Given the description of an element on the screen output the (x, y) to click on. 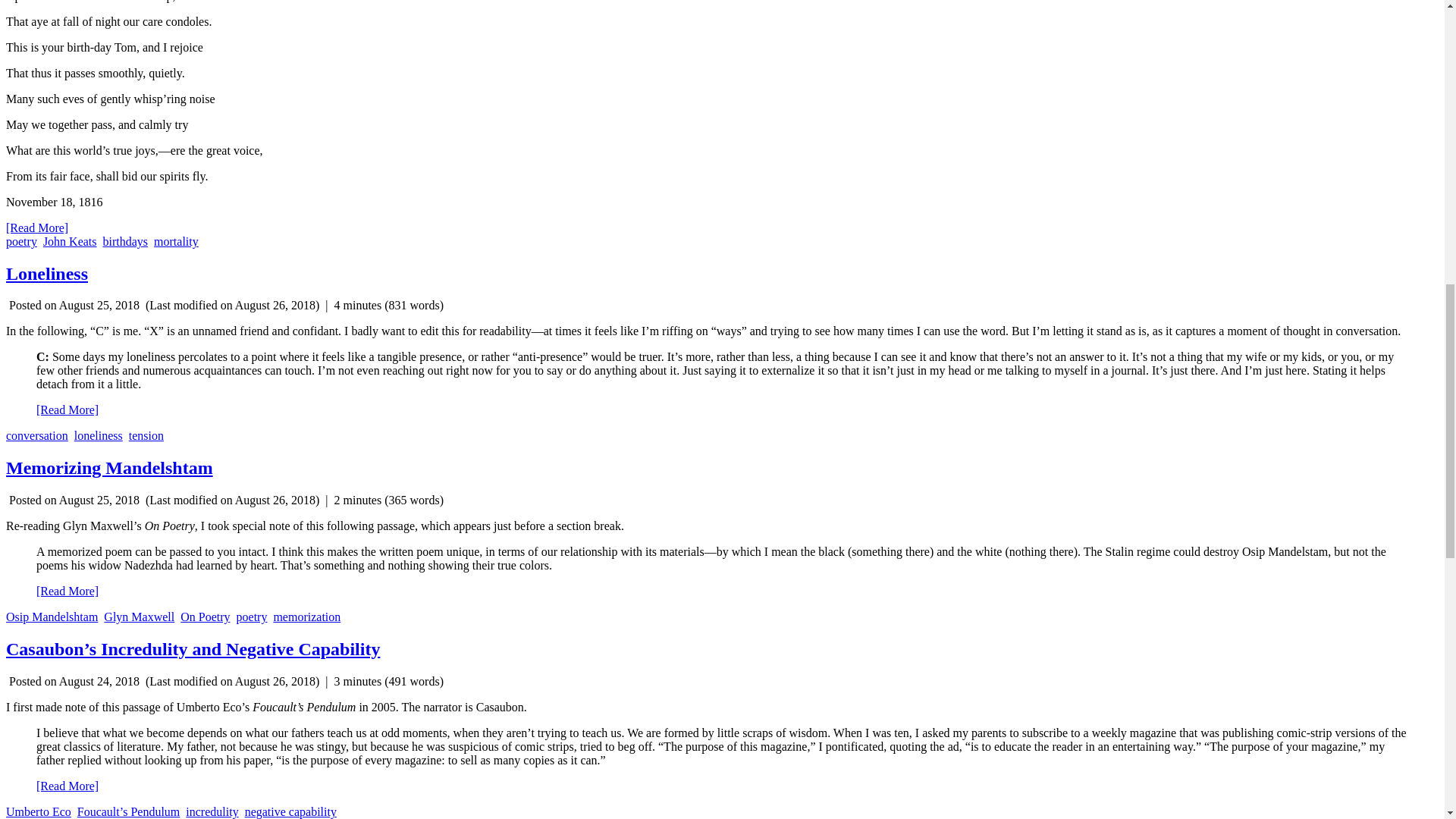
memorization (306, 616)
loneliness (98, 435)
birthdays (125, 241)
Osip Mandelshtam (51, 616)
On Poetry (205, 616)
poetry (251, 616)
poetry (21, 241)
Glyn Maxwell (138, 616)
conversation (36, 435)
tension (146, 435)
John Keats (70, 241)
mortality (176, 241)
